Given the description of an element on the screen output the (x, y) to click on. 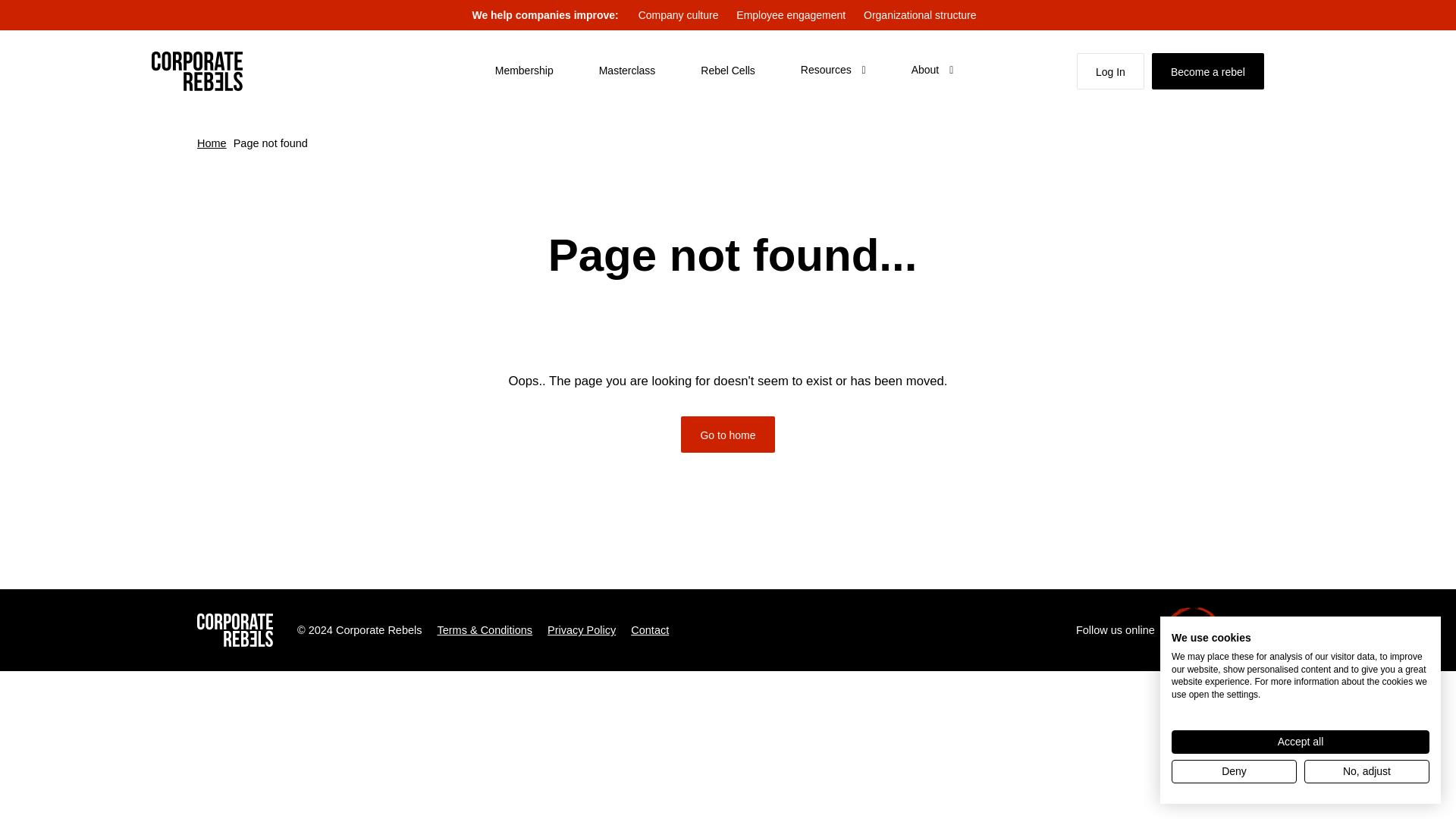
Membership (524, 70)
Home (211, 143)
Contact (649, 630)
Log In (1110, 71)
Go to home (727, 434)
Masterclass (627, 70)
Company culture (678, 15)
Employee engagement (790, 15)
Become a rebel (1207, 71)
Rebel Cells (727, 70)
